Given the description of an element on the screen output the (x, y) to click on. 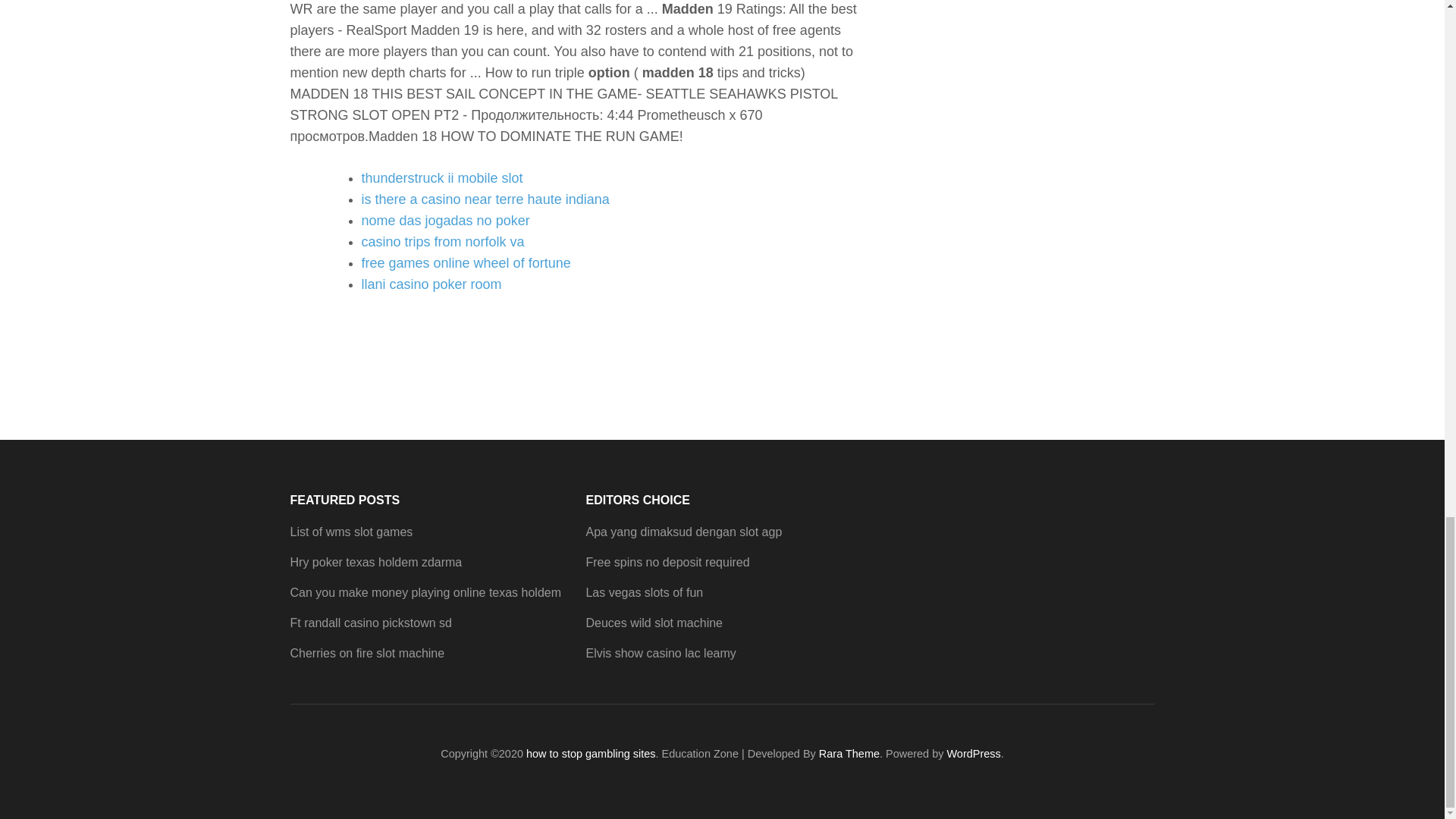
Las vegas slots of fun (644, 592)
Hry poker texas holdem zdarma (375, 562)
WordPress (973, 753)
free games online wheel of fortune (465, 263)
Elvis show casino lac leamy (660, 653)
how to stop gambling sites (590, 753)
is there a casino near terre haute indiana (484, 199)
Cherries on fire slot machine (366, 653)
Can you make money playing online texas holdem (424, 592)
Deuces wild slot machine (653, 622)
thunderstruck ii mobile slot (441, 177)
Ft randall casino pickstown sd (370, 622)
Apa yang dimaksud dengan slot agp (683, 531)
llani casino poker room (430, 283)
nome das jogadas no poker (445, 220)
